Given the description of an element on the screen output the (x, y) to click on. 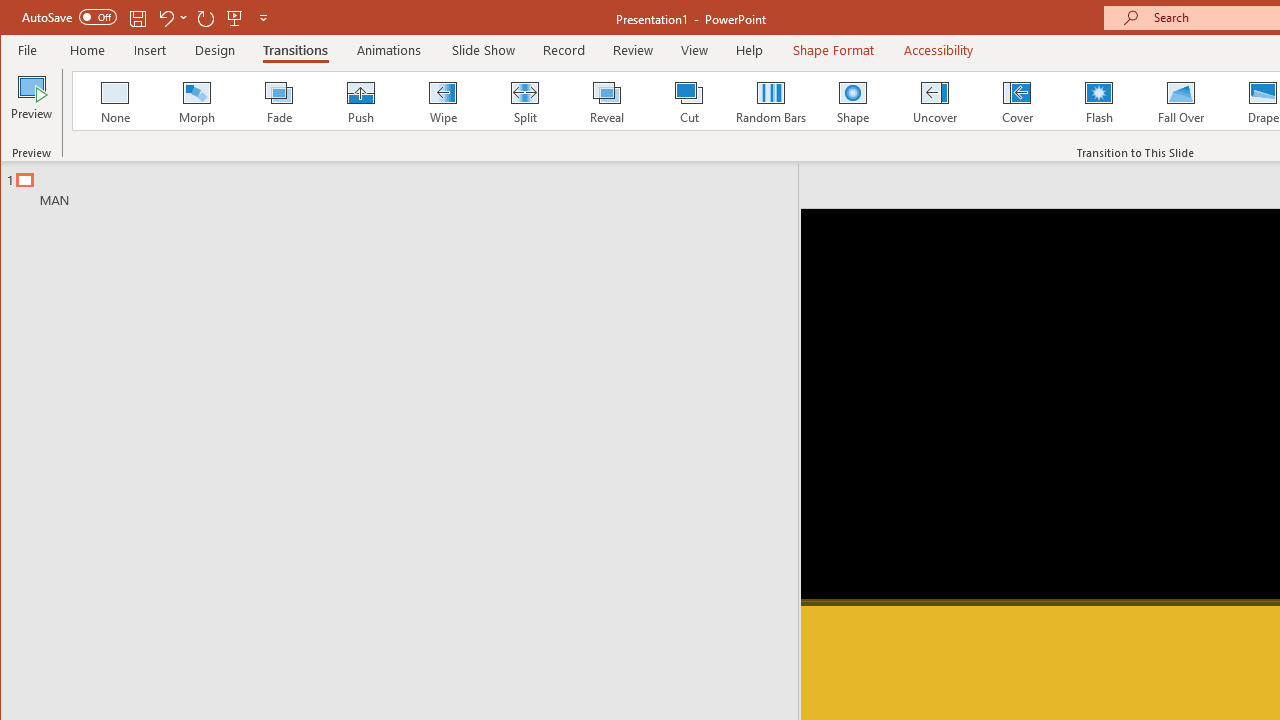
Review (632, 50)
Shape (852, 100)
Save (138, 17)
Help (749, 50)
Customize Quick Access Toolbar (263, 17)
Morph (197, 100)
Insert (150, 50)
AutoSave (68, 16)
Redo (206, 17)
Wipe (442, 100)
Home (87, 50)
None (115, 100)
Preview (31, 104)
